Given the description of an element on the screen output the (x, y) to click on. 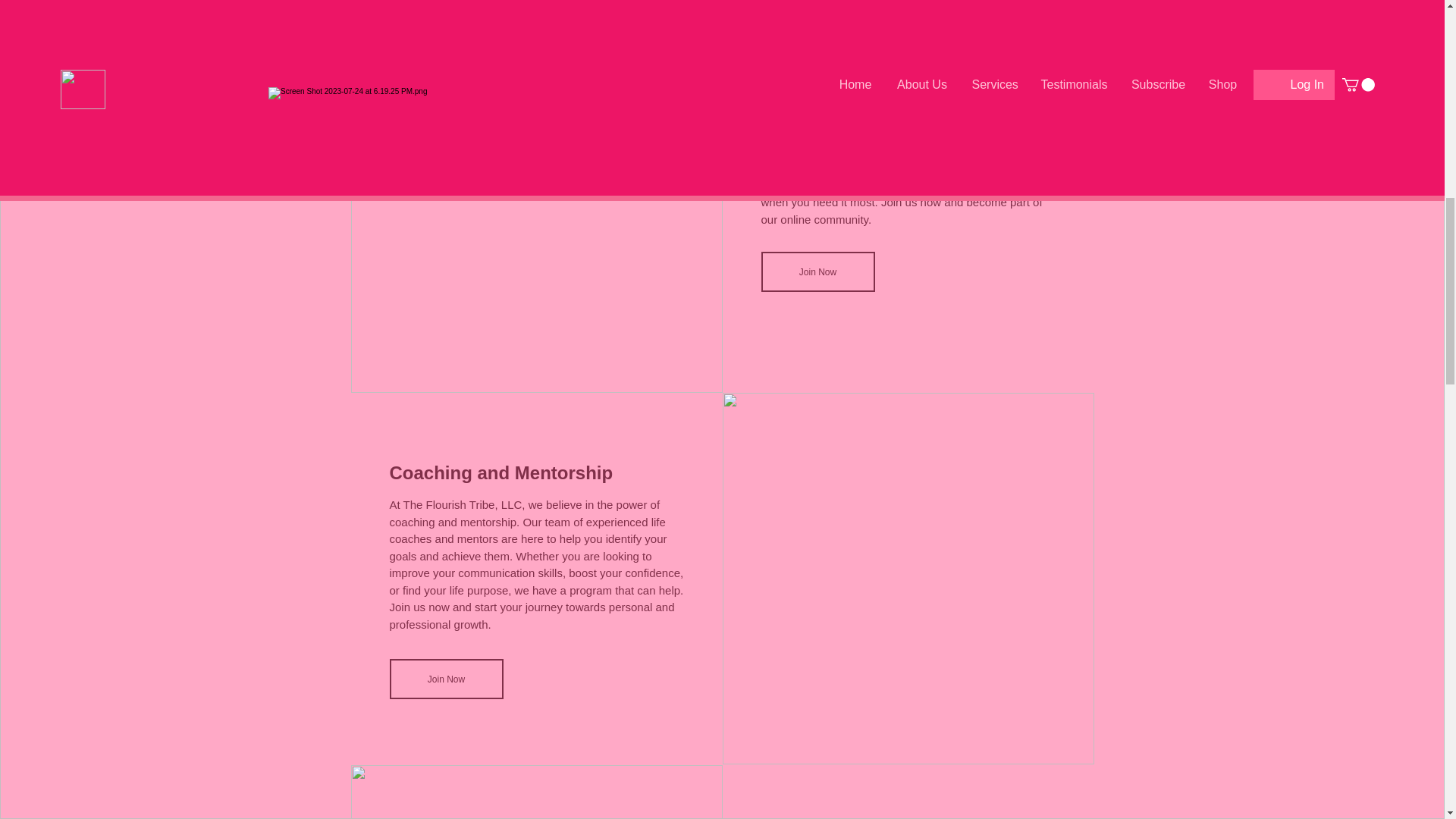
Join Now (818, 271)
GettyImages-576798533-edit.jpg (536, 791)
Join Now (446, 679)
